Given the description of an element on the screen output the (x, y) to click on. 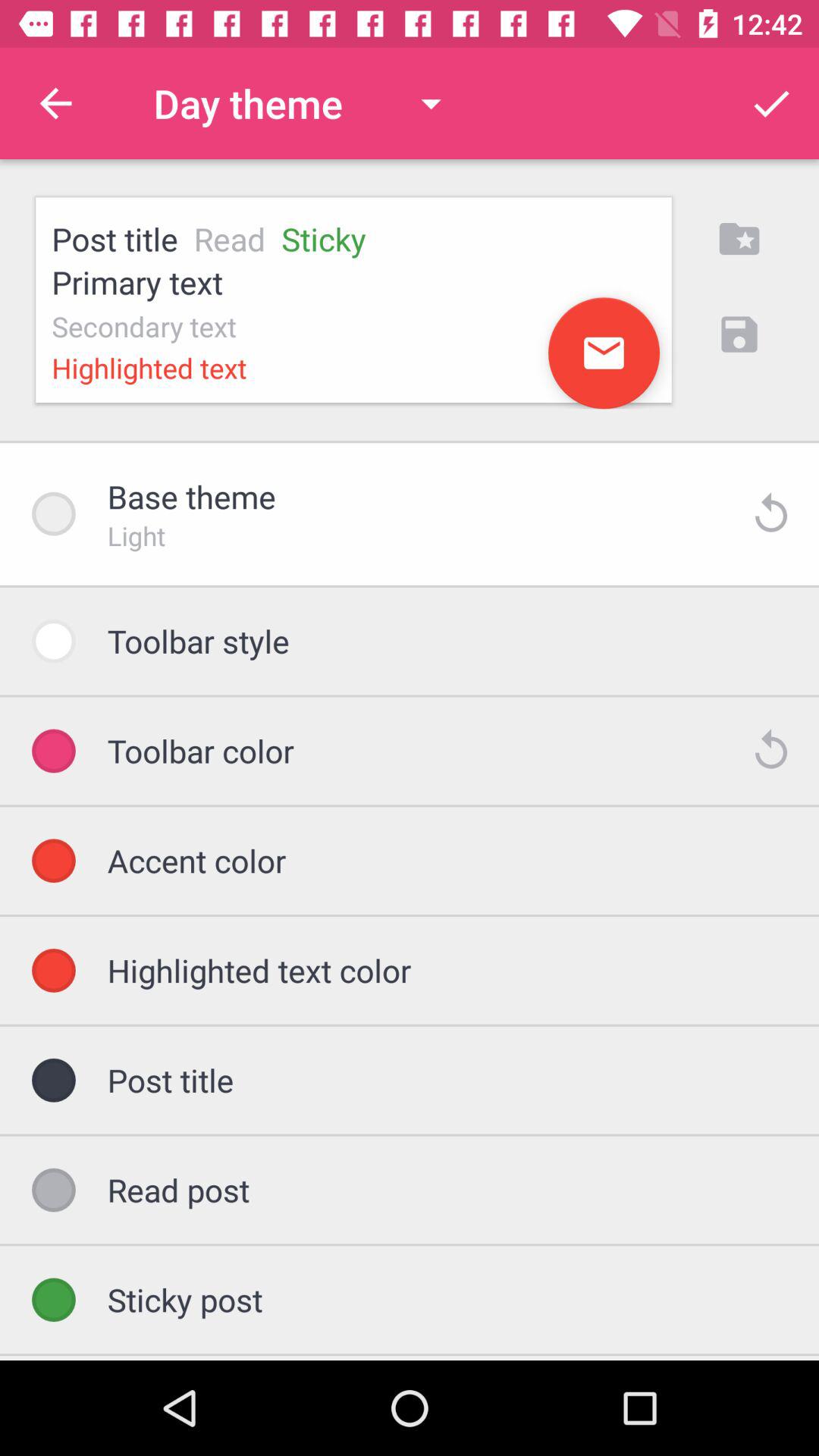
click on the icon beside light (771, 513)
click on the star icon which is below right tick mark (739, 238)
